Given the description of an element on the screen output the (x, y) to click on. 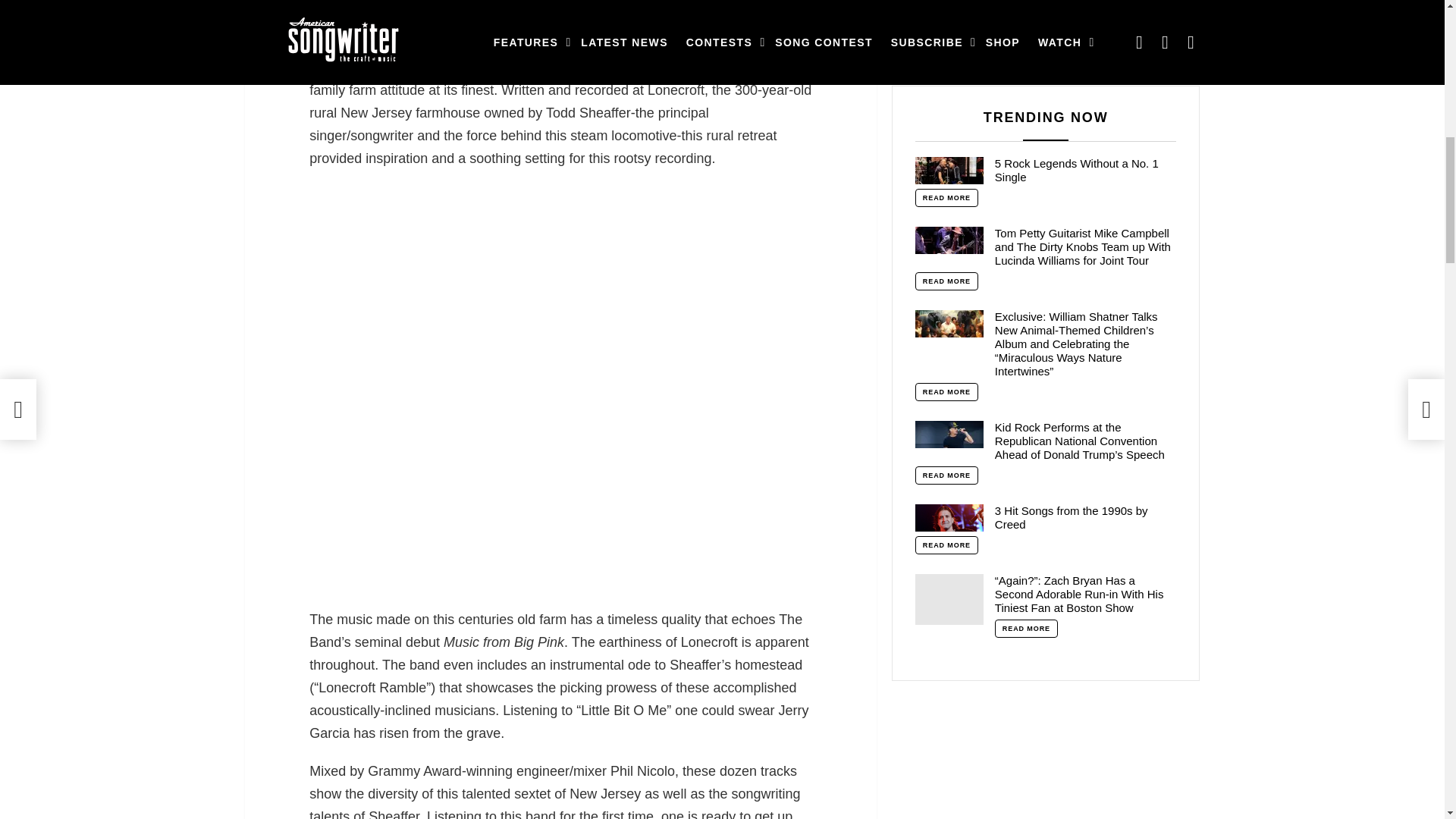
rre-2008-main-cred-c-taylor-crothers (388, 30)
3rd party ad content (560, 279)
3rd party ad content (560, 475)
